Given the description of an element on the screen output the (x, y) to click on. 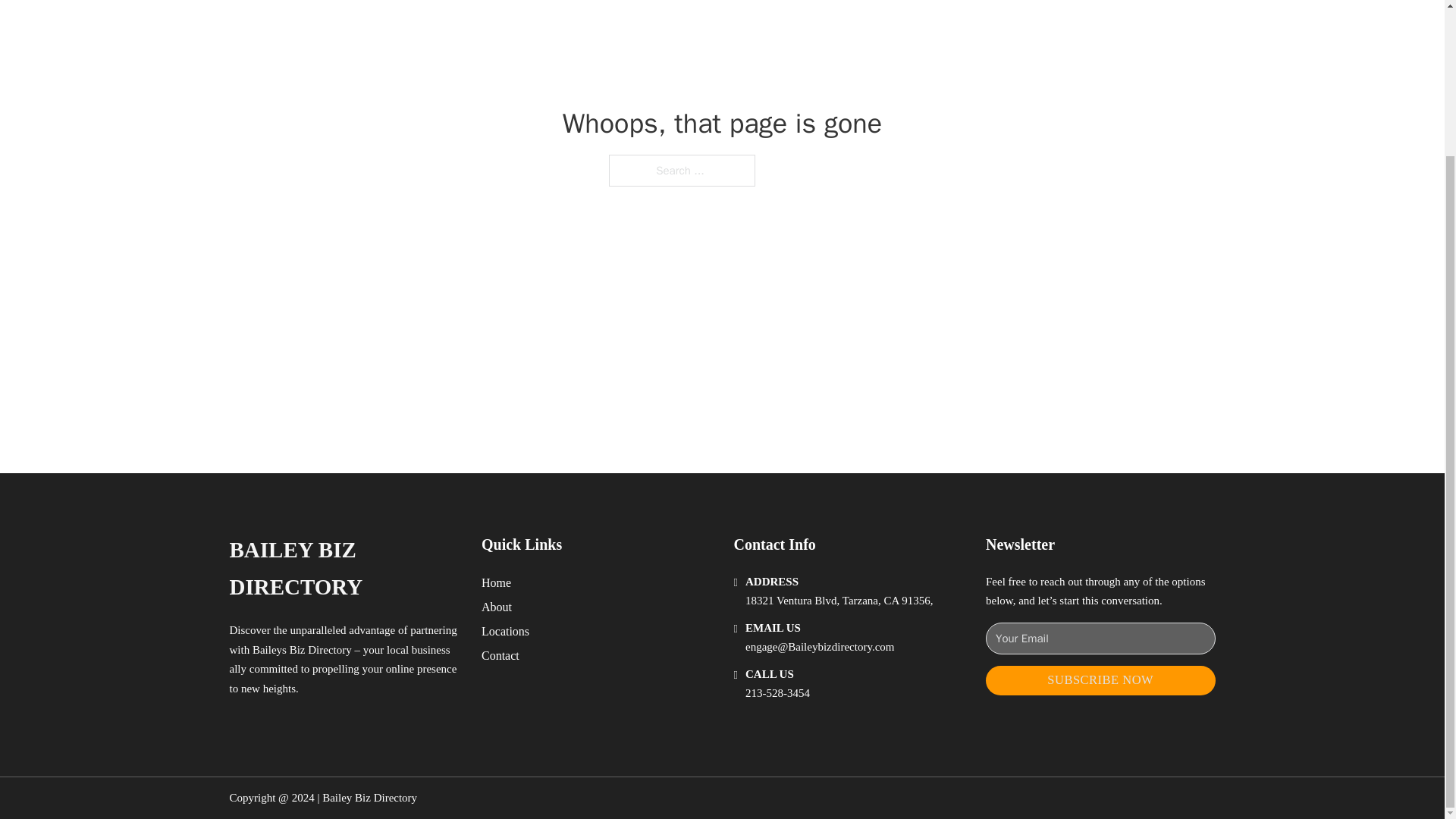
213-528-3454 (777, 693)
SUBSCRIBE NOW (1100, 680)
Contact (500, 655)
Home (496, 582)
Locations (505, 630)
BAILEY BIZ DIRECTORY (343, 568)
About (496, 607)
